Given the description of an element on the screen output the (x, y) to click on. 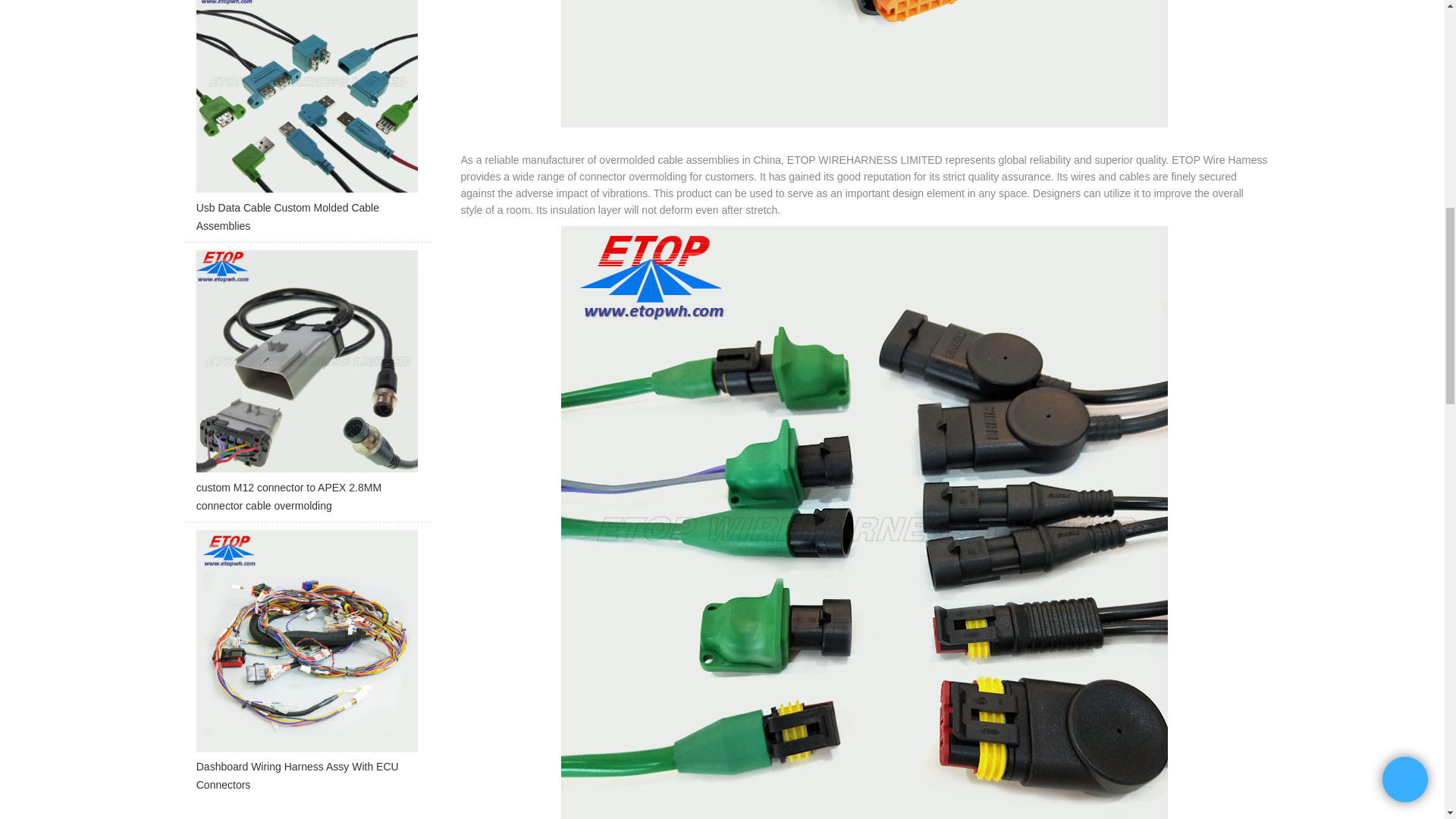
Dashboard Wiring Harness Assy With ECU Connectors (306, 665)
Usb Data Cable Custom Molded Cable Assemblies (306, 121)
